Given the description of an element on the screen output the (x, y) to click on. 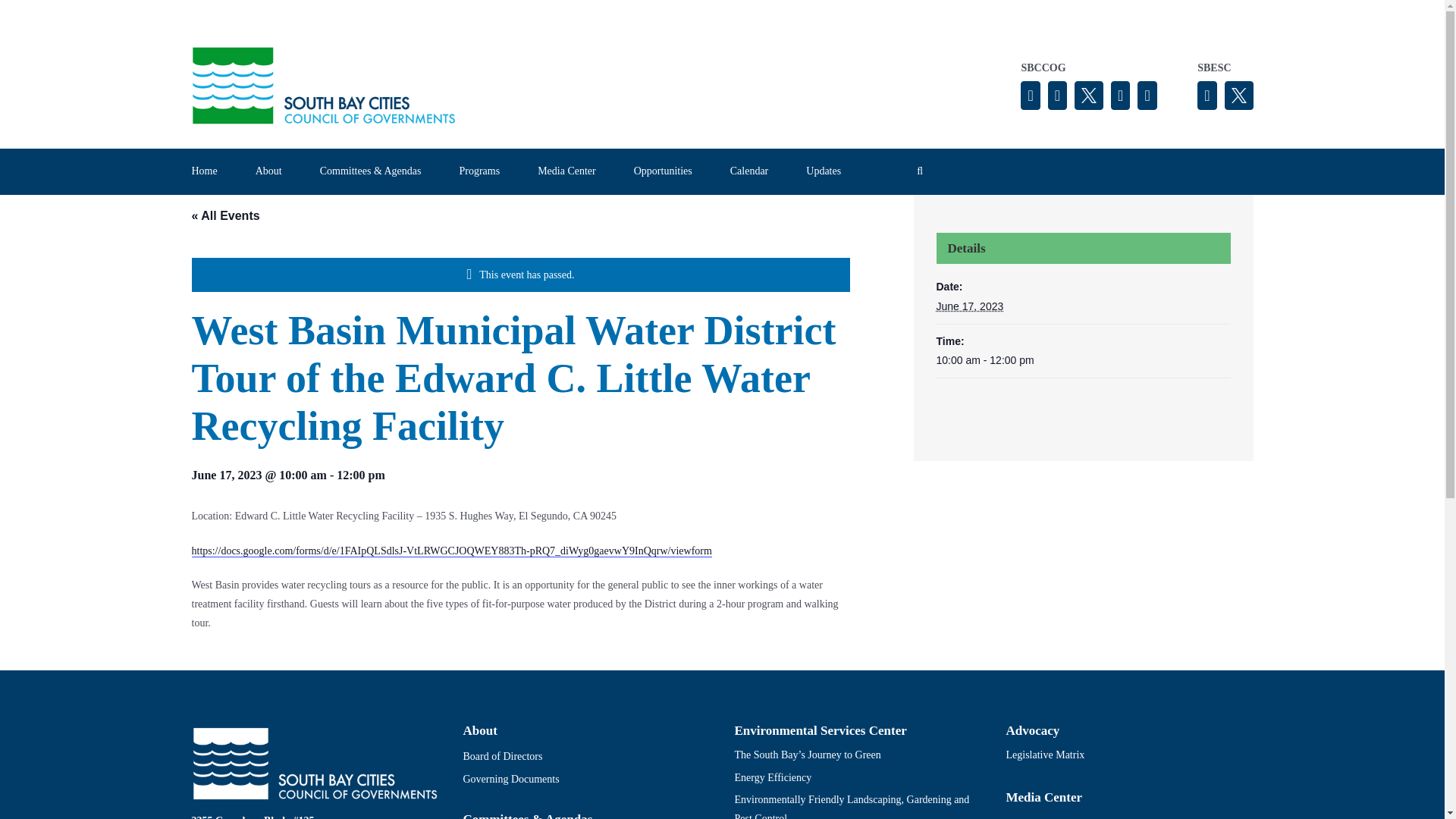
2023-06-17 (1083, 360)
2023-06-17 (969, 306)
